Given the description of an element on the screen output the (x, y) to click on. 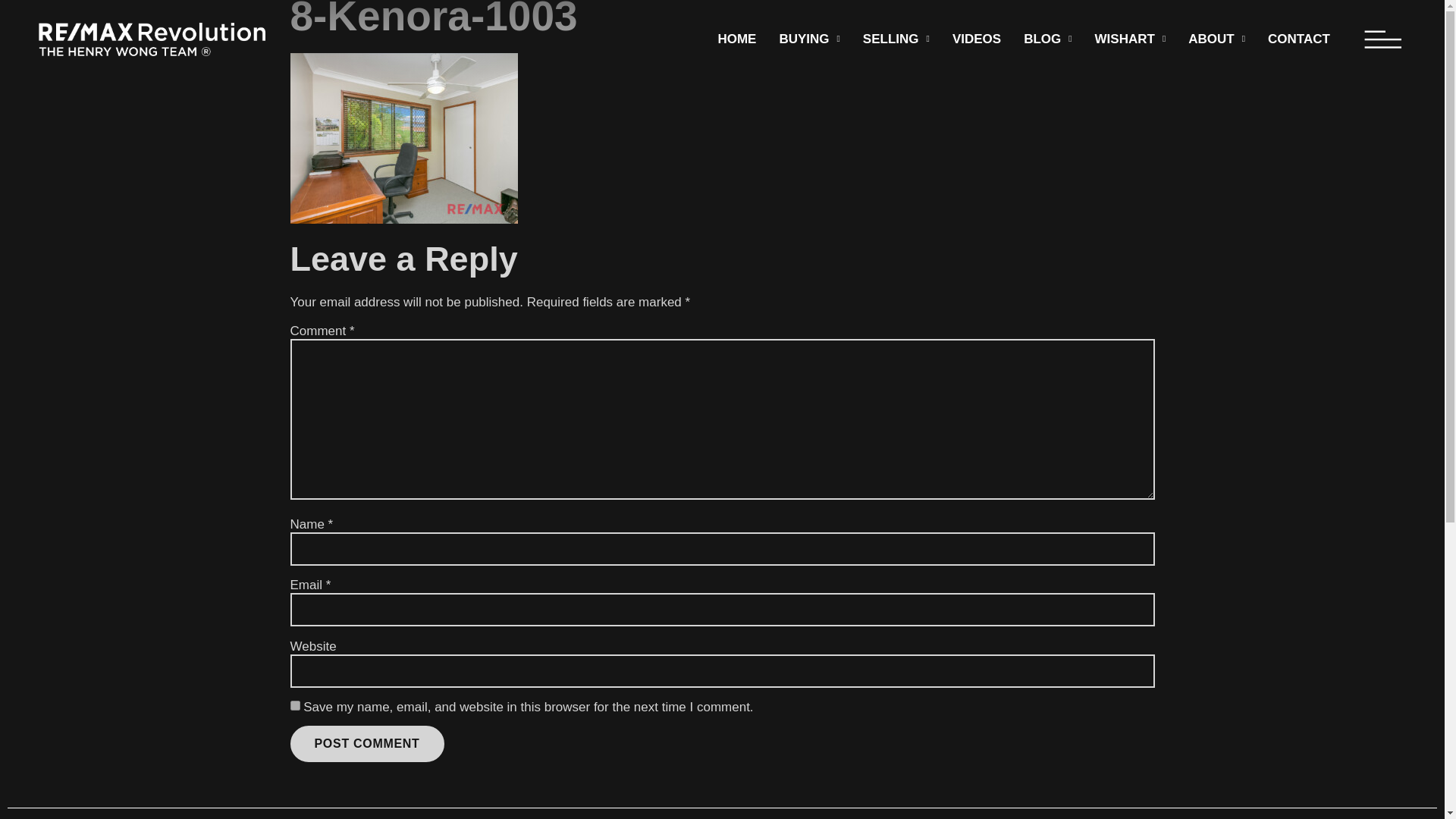
CONTACT (1298, 39)
Post Comment (366, 743)
BUYING (808, 39)
WISHART (1130, 39)
VIDEOS (975, 39)
yes (294, 705)
HOME (736, 39)
ABOUT (1216, 39)
SELLING (895, 39)
BLOG (1047, 39)
